Given the description of an element on the screen output the (x, y) to click on. 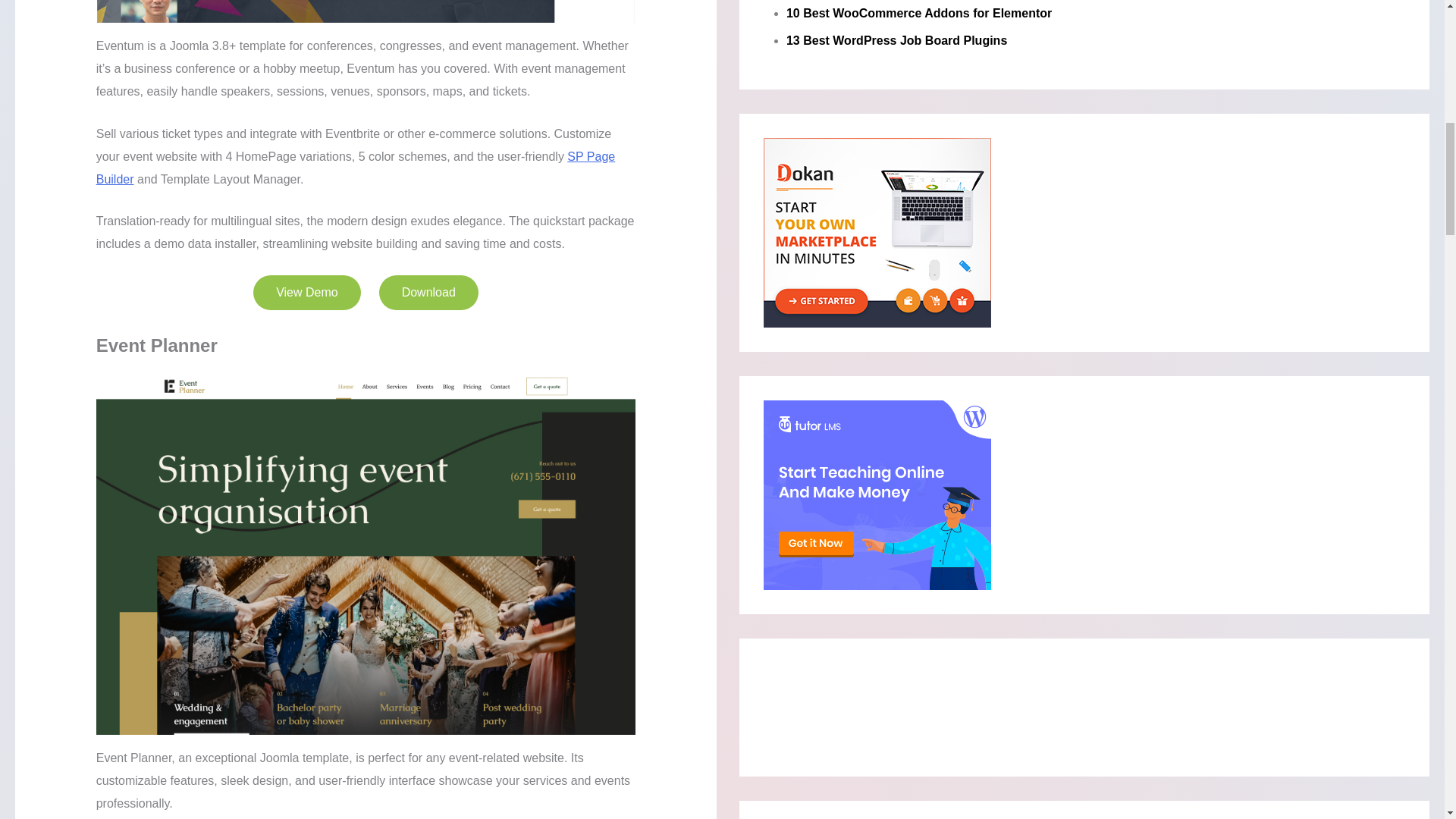
SP Page Builder (355, 167)
View Demo (307, 292)
Download (428, 292)
